Given the description of an element on the screen output the (x, y) to click on. 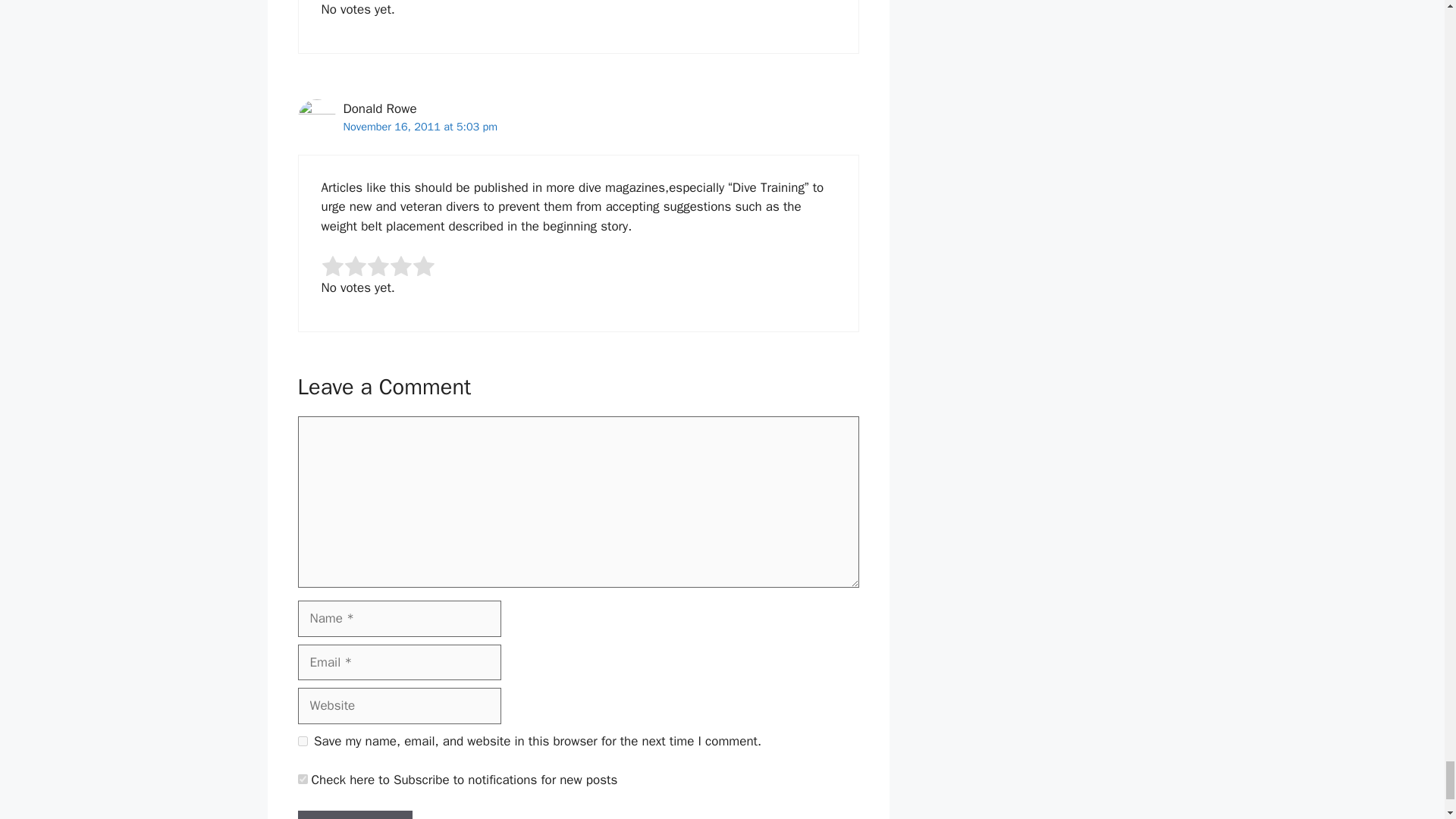
November 16, 2011 at 5:03 pm (419, 126)
1 (302, 778)
Post Comment (354, 814)
yes (302, 741)
